Given the description of an element on the screen output the (x, y) to click on. 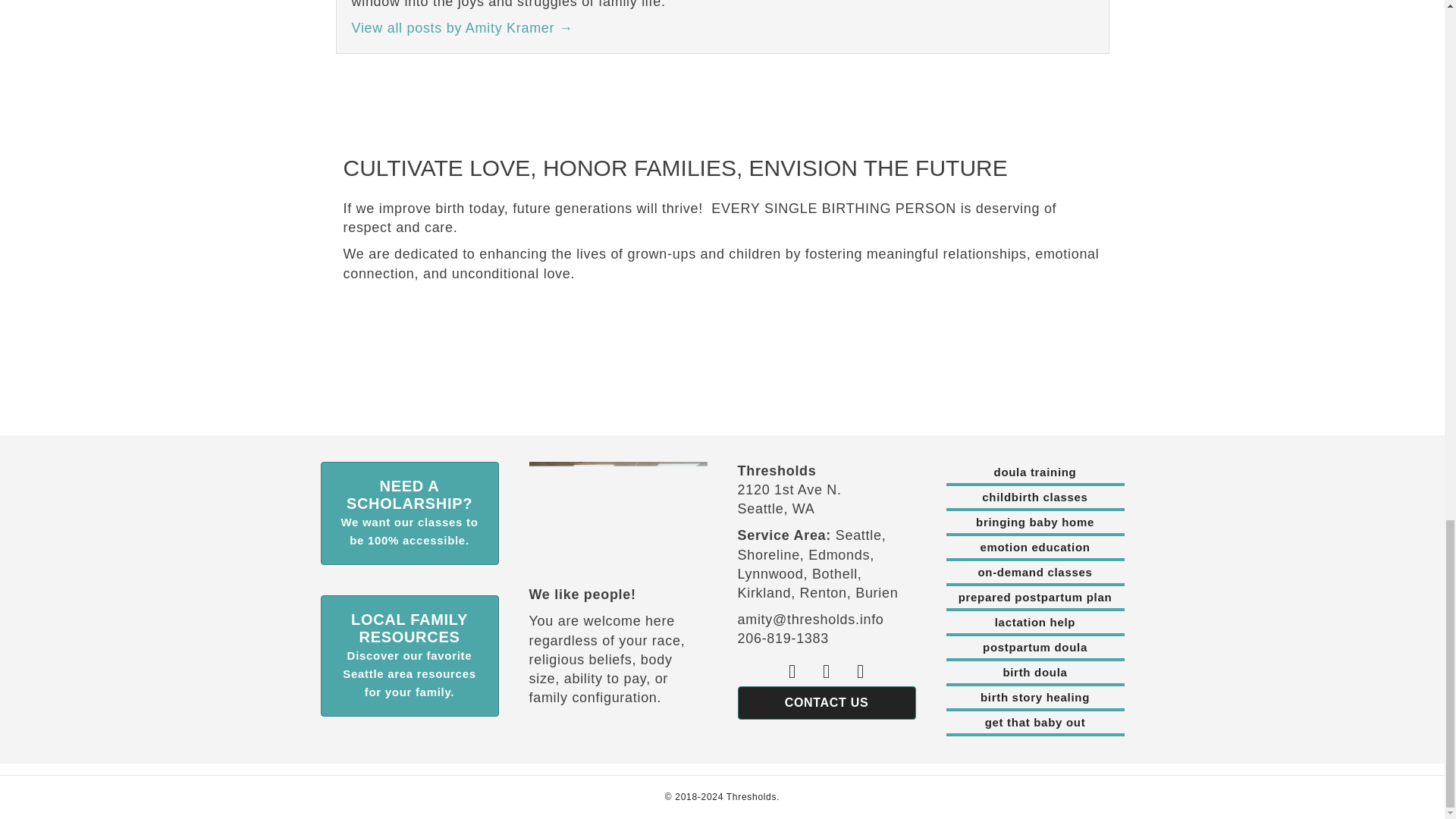
Instagram (860, 671)
thresholds-classroom-seattle (618, 508)
postpartum doula (1035, 648)
CONTACT US (825, 702)
doula training (1035, 473)
lactation help (1035, 623)
emotion education (1035, 549)
childbirth classes (1035, 498)
prepared postpartum plan (1035, 598)
